Given the description of an element on the screen output the (x, y) to click on. 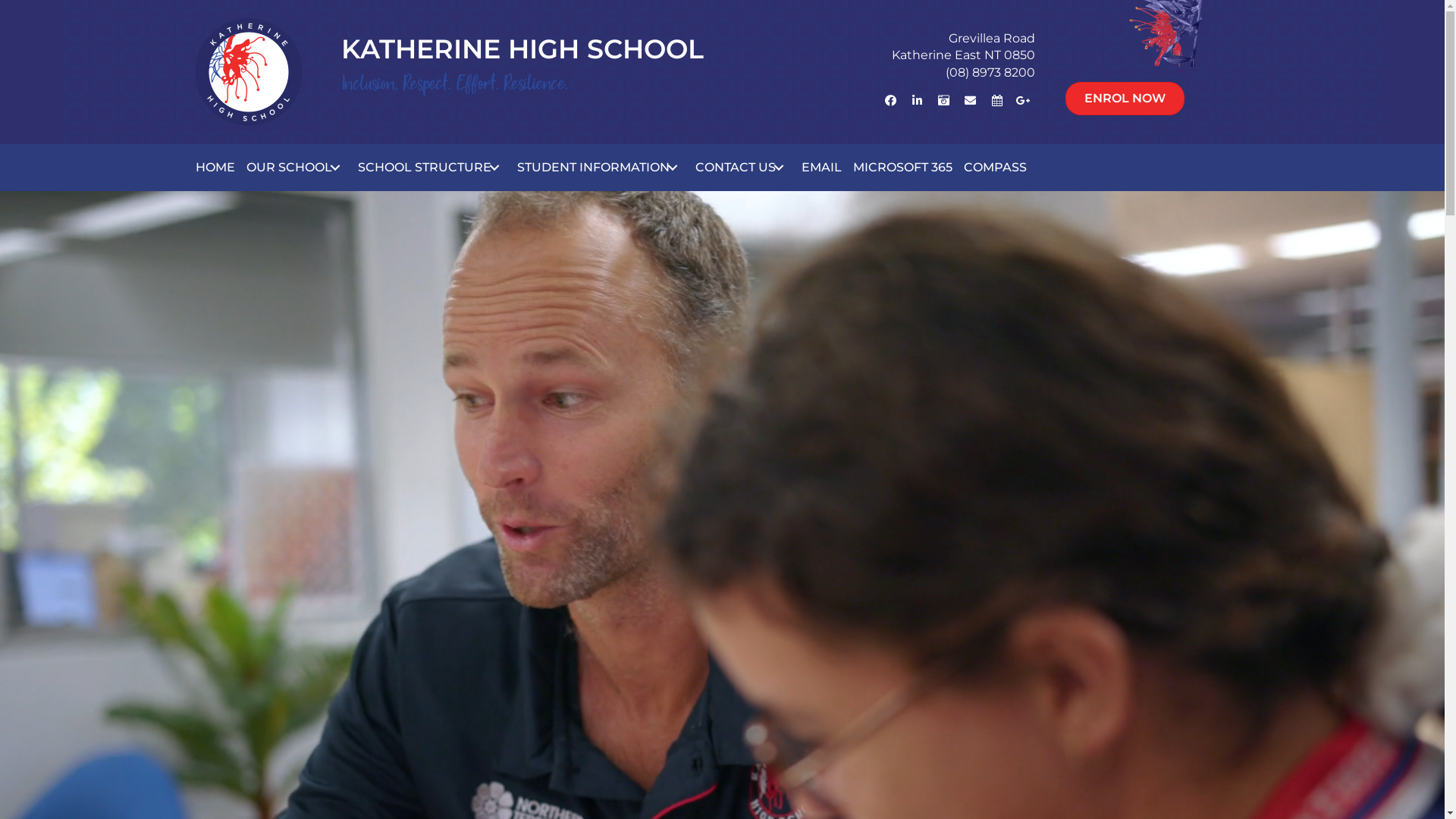
MICROSOFT 365 Element type: text (902, 167)
OUR SCHOOL Element type: text (296, 167)
EMAIL Element type: text (821, 167)
HOME Element type: text (214, 167)
grevillea-spider-web Element type: hover (1159, 33)
(08) 8973 8200 Element type: text (990, 72)
Inclusion. Respect. Effort. Resilience. Element type: hover (454, 81)
Google Plus Element type: hover (1023, 99)
Email Element type: hover (970, 99)
Facebook Element type: hover (890, 99)
SCHOOL STRUCTURE Element type: text (430, 167)
COMPASS Element type: text (995, 167)
STUDENT INFORMATION Element type: text (599, 167)
ENROL NOW Element type: text (1124, 98)
CONTACT US Element type: text (742, 167)
Instagram Element type: hover (943, 99)
KHS logo Element type: hover (247, 71)
KATHERINE HIGH SCHOOL Element type: text (522, 48)
LinkedIn Element type: hover (917, 99)
